Given the description of an element on the screen output the (x, y) to click on. 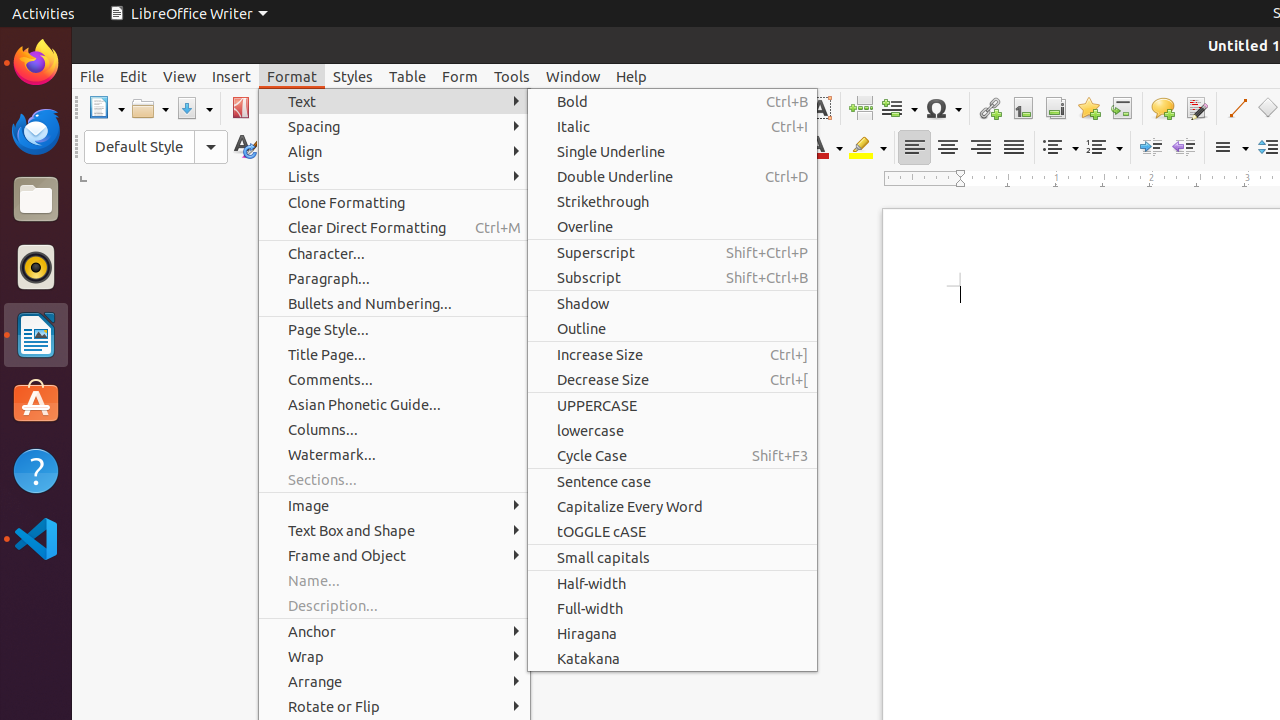
Asian Phonetic Guide... Element type: menu-item (394, 404)
Comment Element type: push-button (1162, 108)
tOGGLE cASE Element type: menu-item (672, 531)
Half-width Element type: menu-item (672, 583)
Capitalize Every Word Element type: menu-item (672, 506)
